Given the description of an element on the screen output the (x, y) to click on. 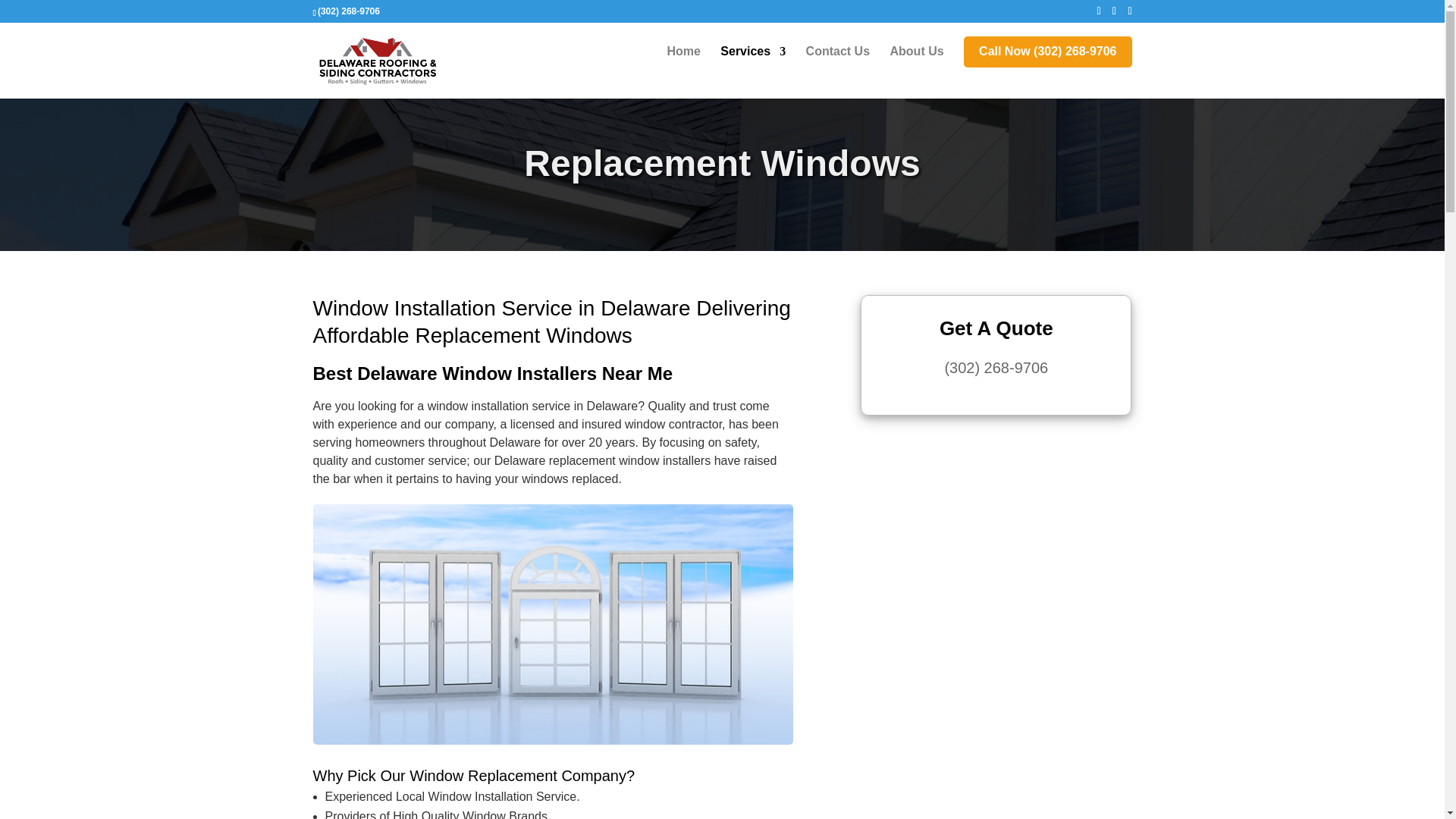
Services (753, 71)
About Us (916, 71)
Contact Us (837, 71)
